Given the description of an element on the screen output the (x, y) to click on. 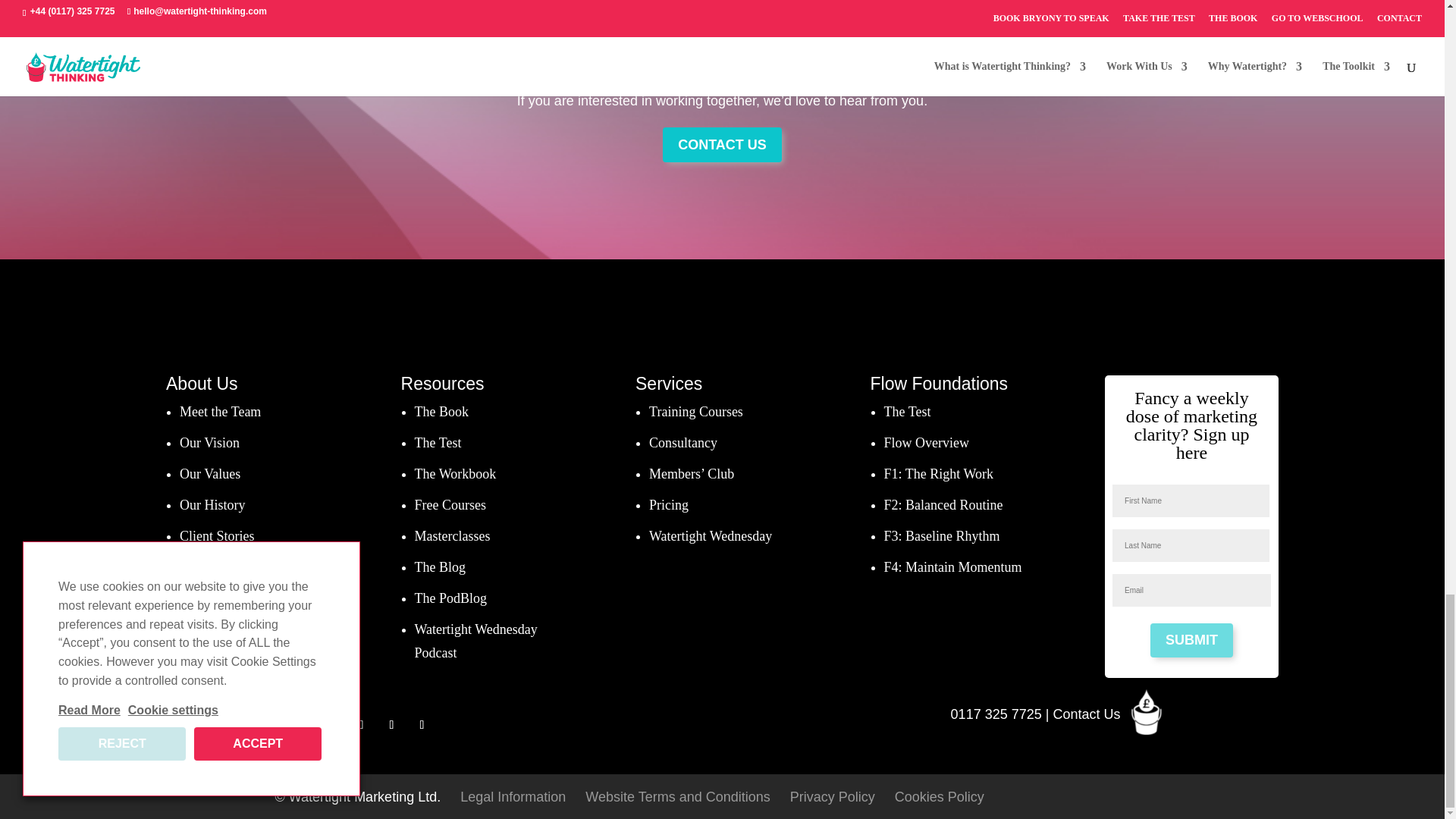
Follow on Facebook (300, 723)
Members' Club (691, 473)
Follow on Instagram (421, 723)
Follow on LinkedIn (390, 723)
Consultancy (683, 442)
Training Courses (695, 411)
Follow on Twitter (330, 723)
Pricing (668, 504)
Follow on Youtube (360, 723)
